Given the description of an element on the screen output the (x, y) to click on. 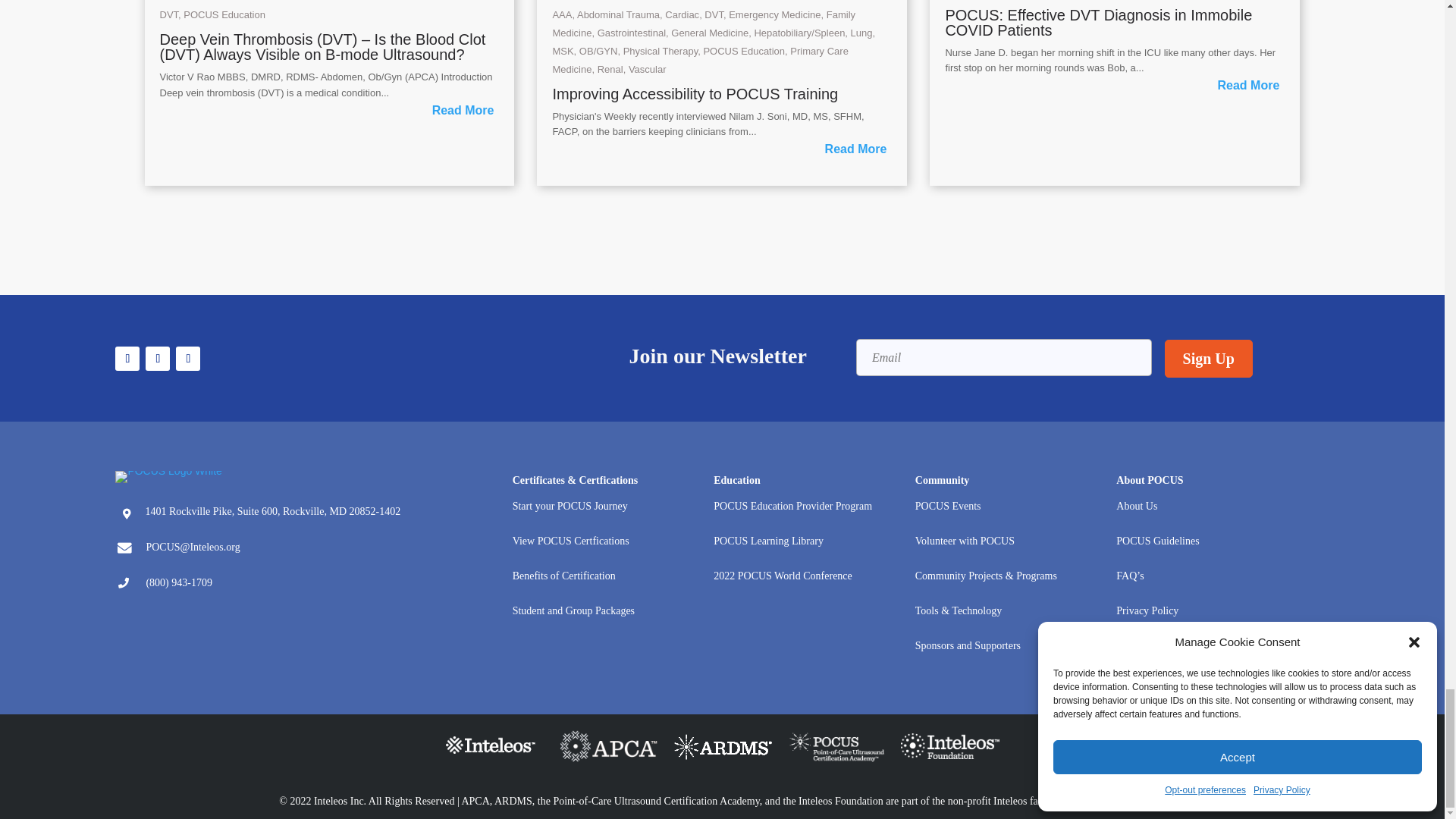
POCUS Logo White (168, 476)
Follow on LinkedIn (188, 358)
APCA (608, 748)
Follow on X (157, 358)
Inteleos (494, 748)
Sign Up (1208, 358)
Follow on Facebook (127, 358)
